Given the description of an element on the screen output the (x, y) to click on. 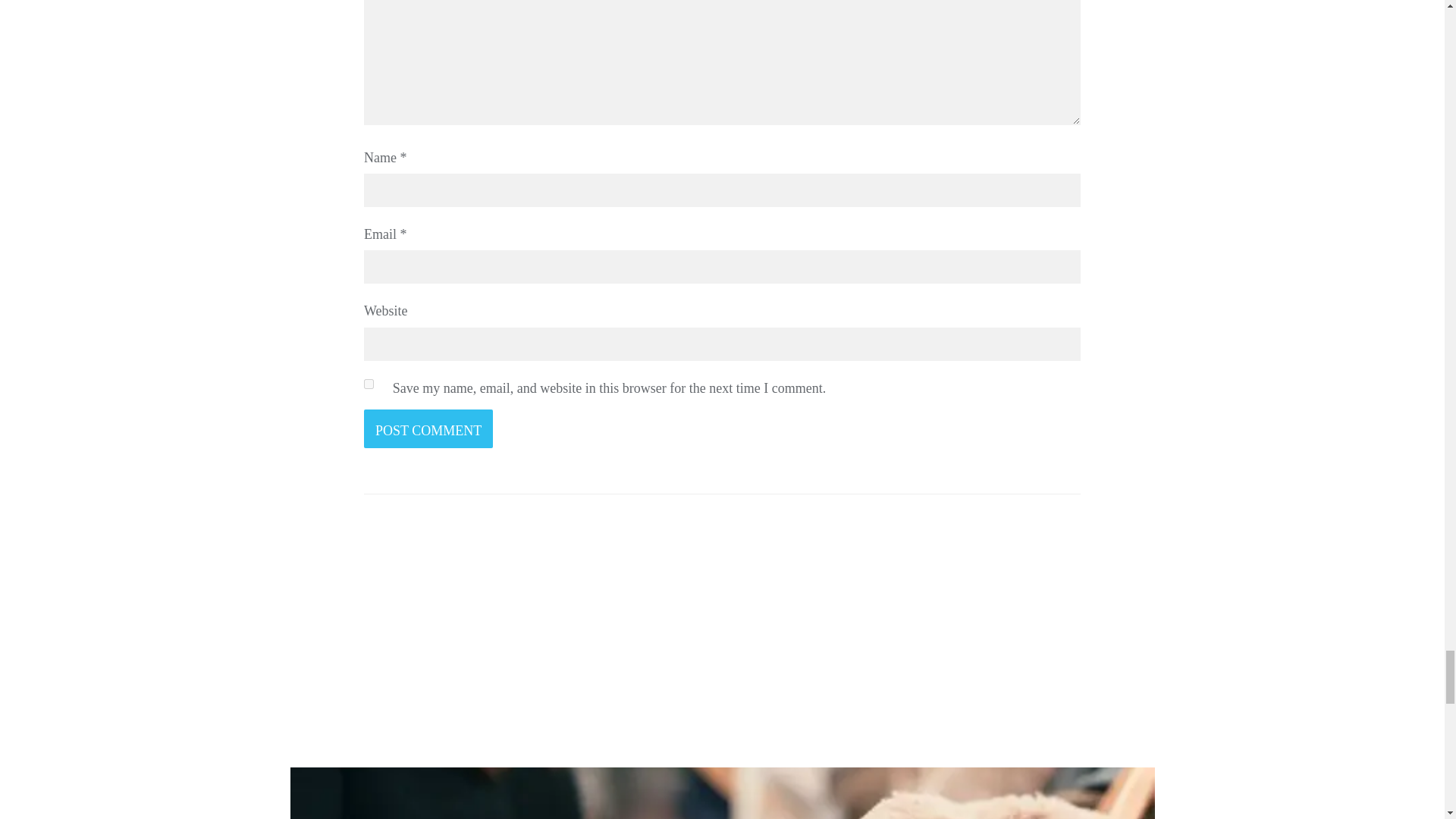
Post Comment (428, 428)
yes (369, 384)
